Given the description of an element on the screen output the (x, y) to click on. 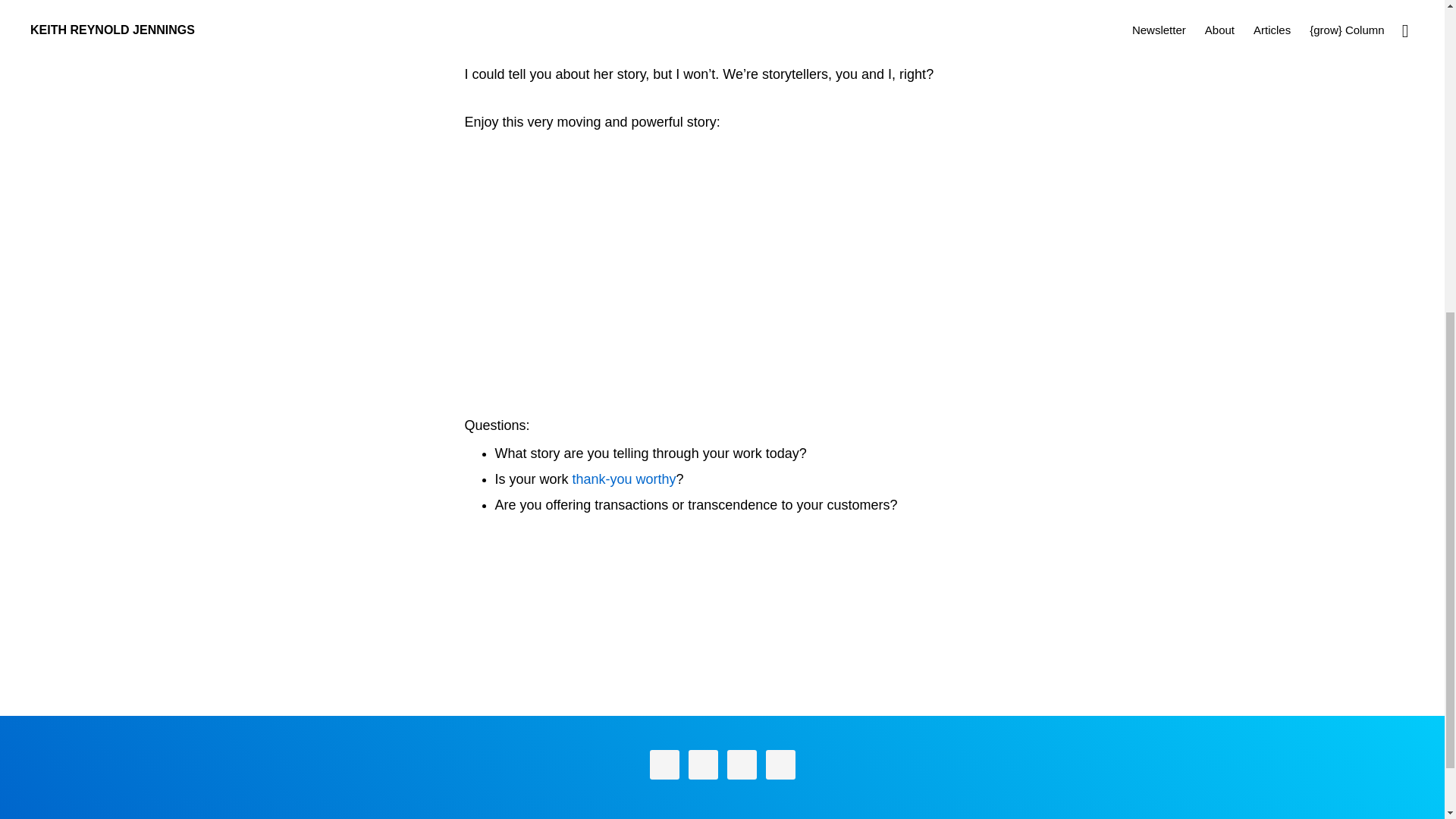
thank-you worthy (624, 478)
Do Customers Thank You For Your Content? (624, 478)
